Given the description of an element on the screen output the (x, y) to click on. 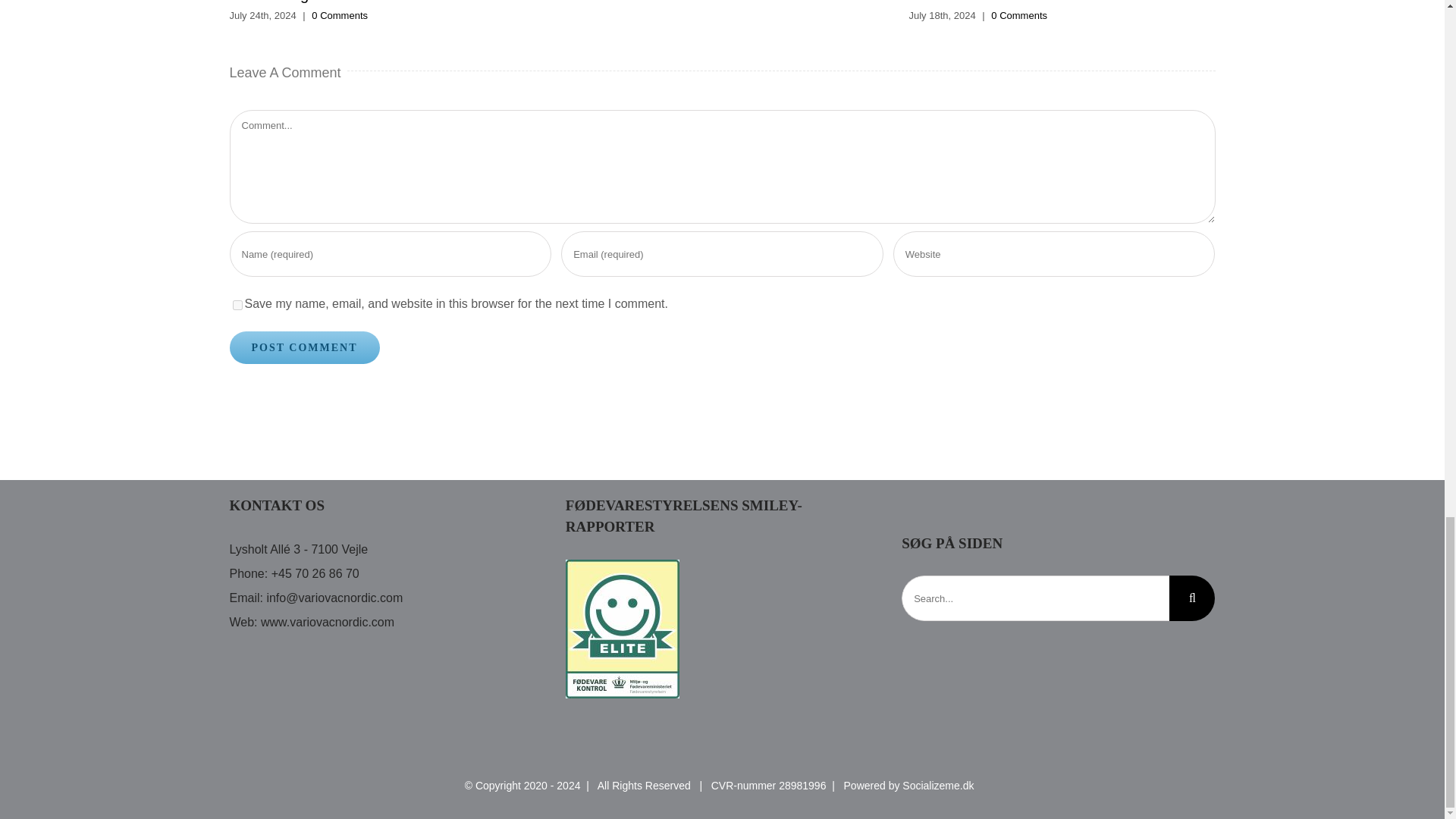
Using a Virtual Data Room for Startup Fundraising (355, 1)
Post Comment (303, 347)
yes (236, 305)
Essential Responsibilities of Boards of Directors (1037, 1)
